Given the description of an element on the screen output the (x, y) to click on. 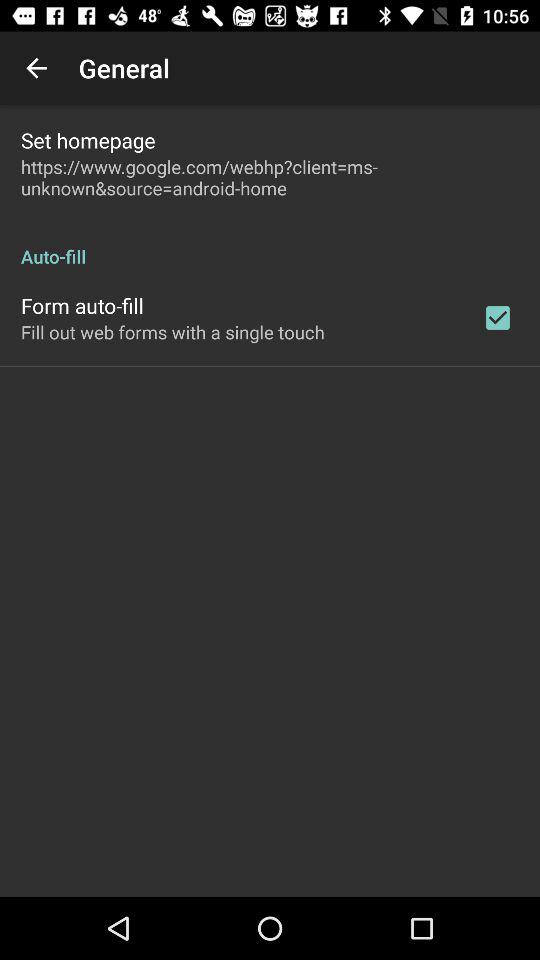
select https www google icon (270, 177)
